Given the description of an element on the screen output the (x, y) to click on. 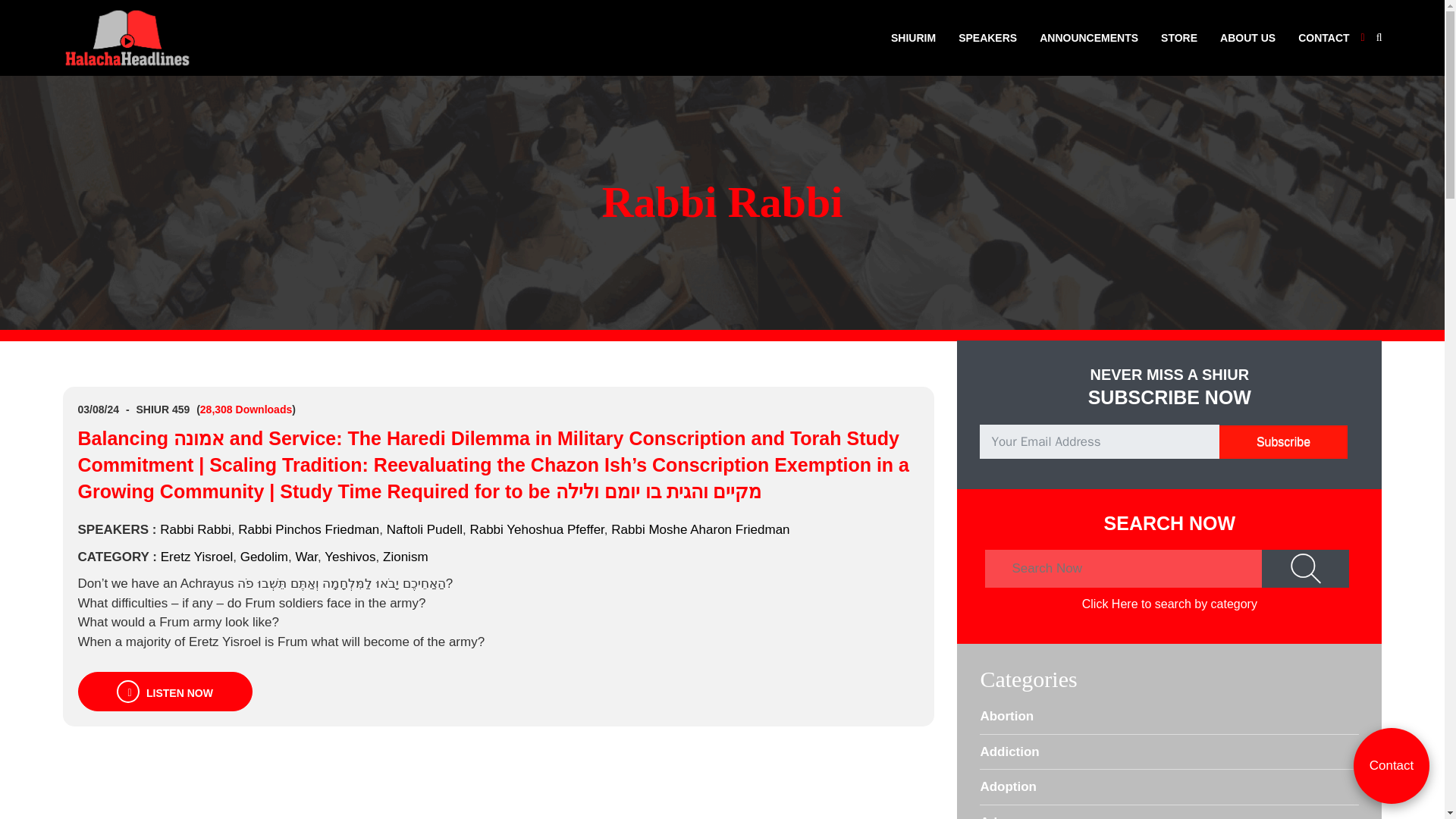
ABOUT US (1247, 37)
Naftoli Pudell (425, 529)
War (306, 555)
SPEAKERS (987, 37)
STORE (1179, 37)
Yeshivos (349, 555)
Rabbi Moshe Aharon Friedman (700, 529)
Rabbi Rabbi (195, 529)
Zionism (405, 555)
Search (1305, 568)
